Given the description of an element on the screen output the (x, y) to click on. 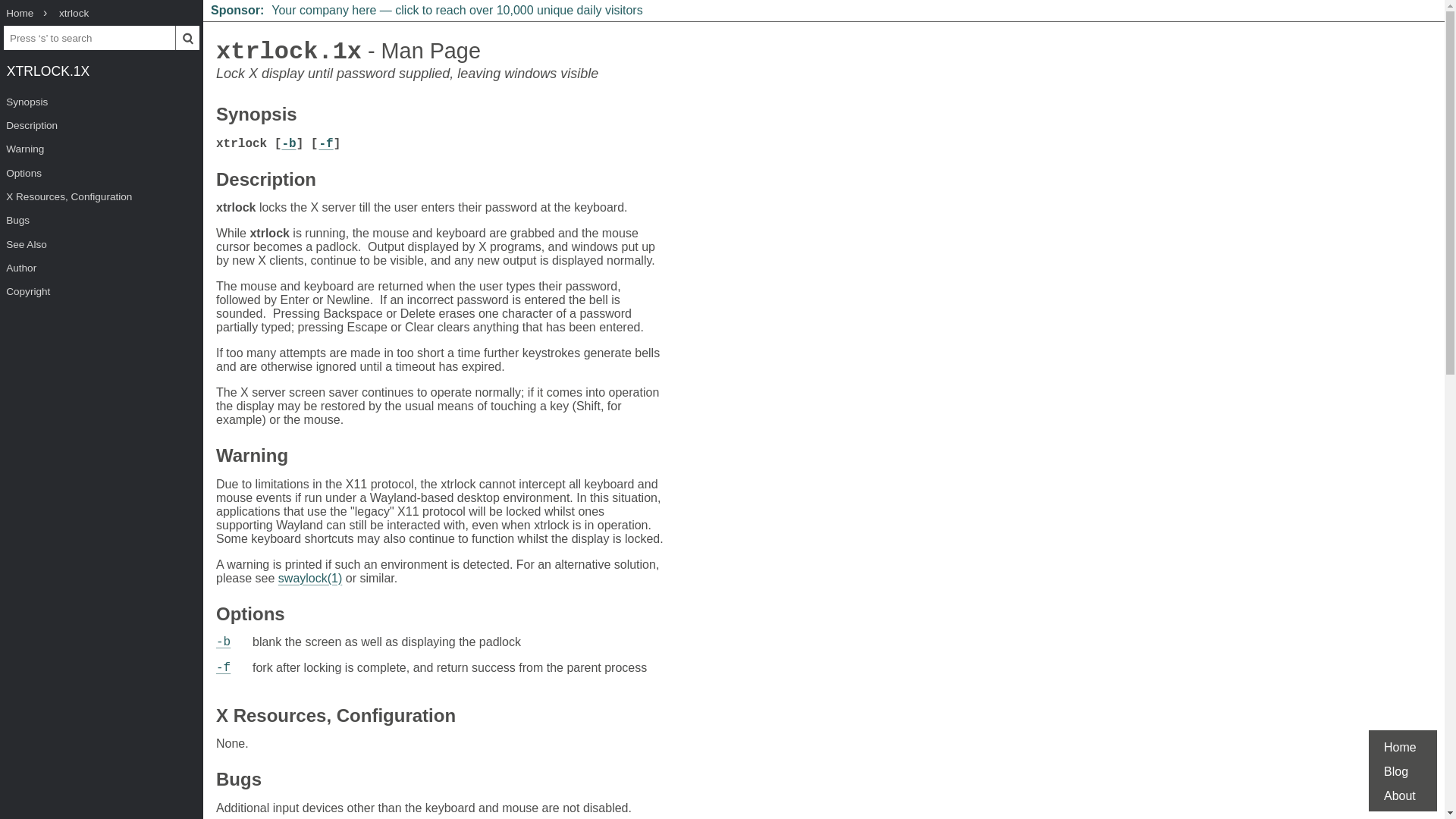
Home (20, 13)
Warning (101, 148)
xtrlock (74, 13)
-b (288, 143)
-f (325, 143)
Blog (1395, 771)
Bugs (238, 780)
Home (1400, 747)
Options (250, 615)
Copyright (101, 291)
Options (101, 173)
Description (265, 181)
X Resources, Configuration (101, 196)
Synopsis (101, 101)
Synopsis (256, 115)
